Given the description of an element on the screen output the (x, y) to click on. 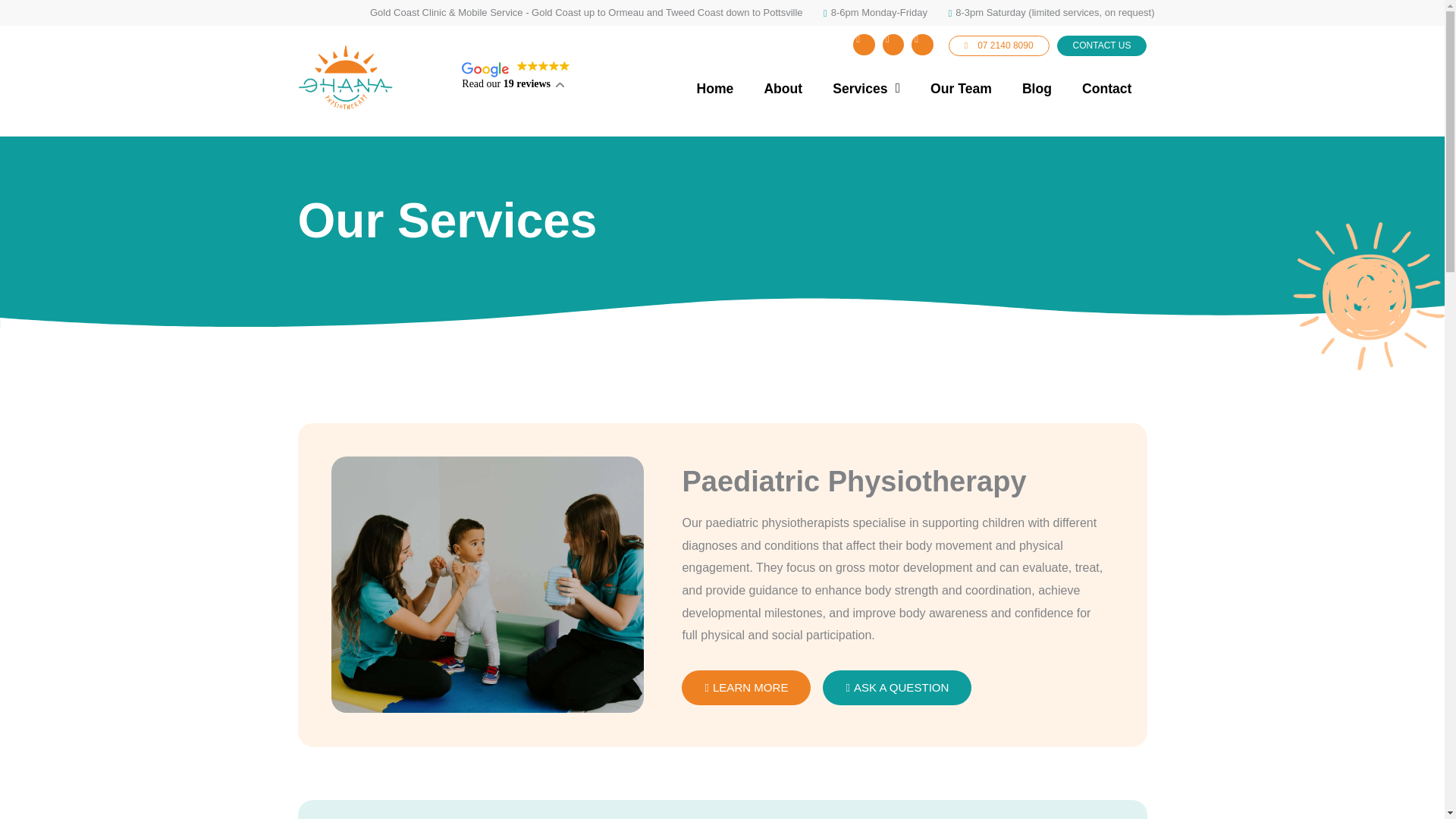
Home (715, 88)
Blog (1037, 88)
CONTACT US (1102, 45)
Contact (1107, 88)
Read our 19 reviews (516, 75)
Our Team (961, 88)
LEARN MORE (745, 687)
07 2140 8090 (999, 45)
About (782, 88)
Services (865, 88)
